Given the description of an element on the screen output the (x, y) to click on. 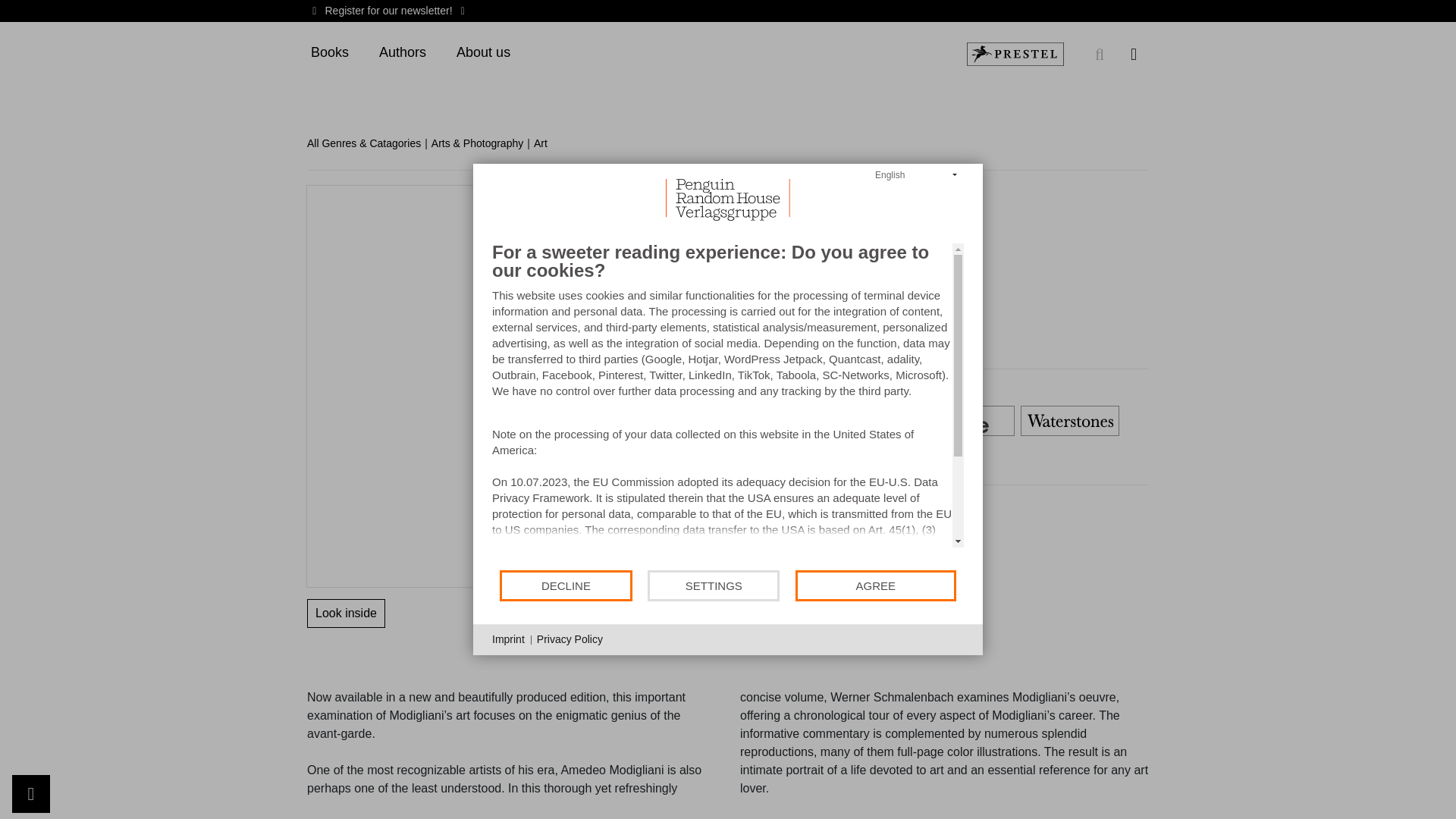
blackwells (755, 421)
otherstores (651, 458)
Authors (402, 52)
hive (964, 421)
Look inside (346, 613)
About us (483, 52)
amazoncouk (651, 421)
Books (329, 52)
Register for our newsletter! (388, 10)
Art (545, 142)
waterstones (1069, 421)
bookshop (860, 421)
Werner Schmalenbach (663, 193)
